Given the description of an element on the screen output the (x, y) to click on. 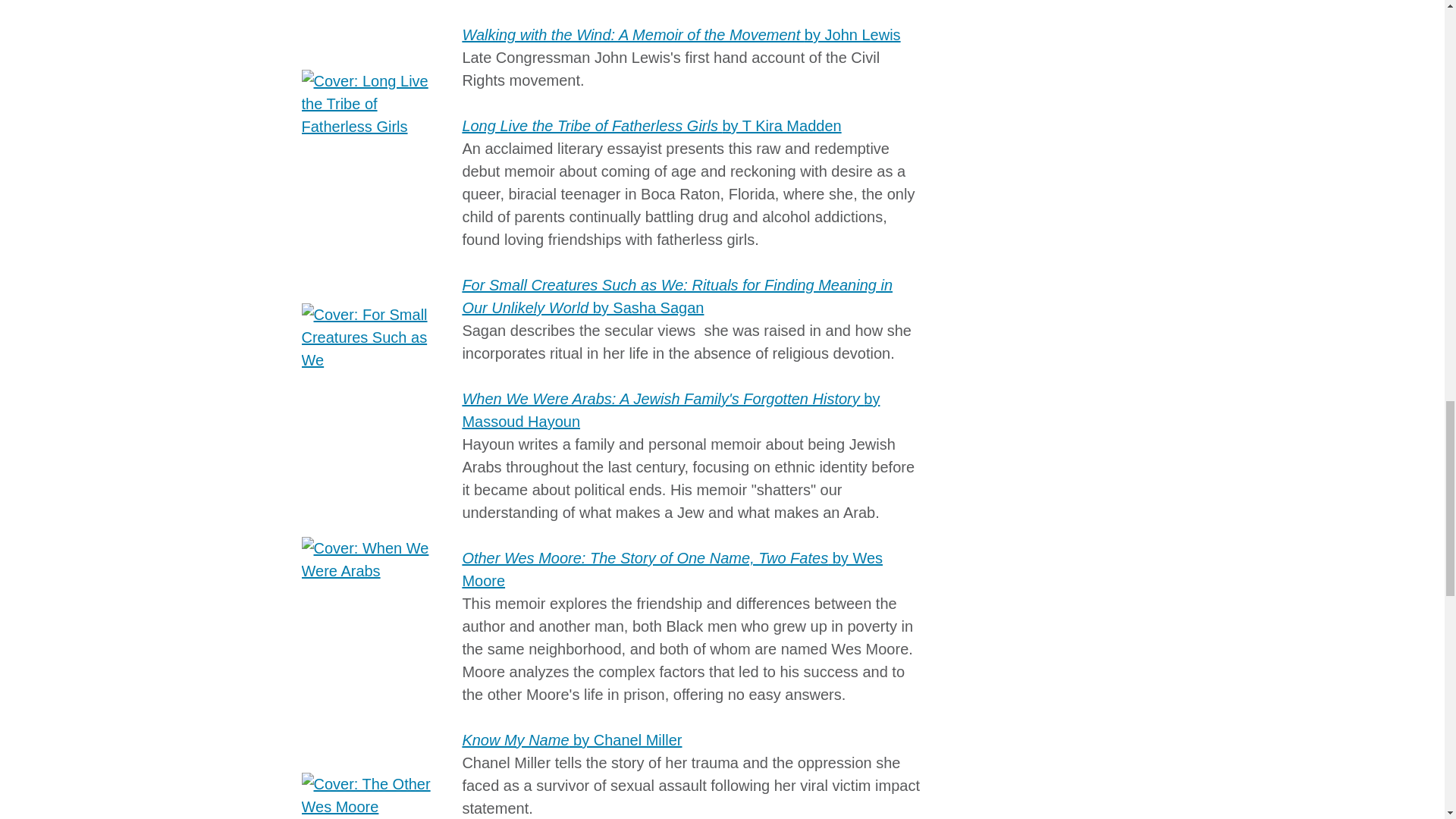
Long Live the Tribe of Fatherless Girls by T Kira Madden (651, 125)
Know My Name by Chanel Miller (571, 740)
